Given the description of an element on the screen output the (x, y) to click on. 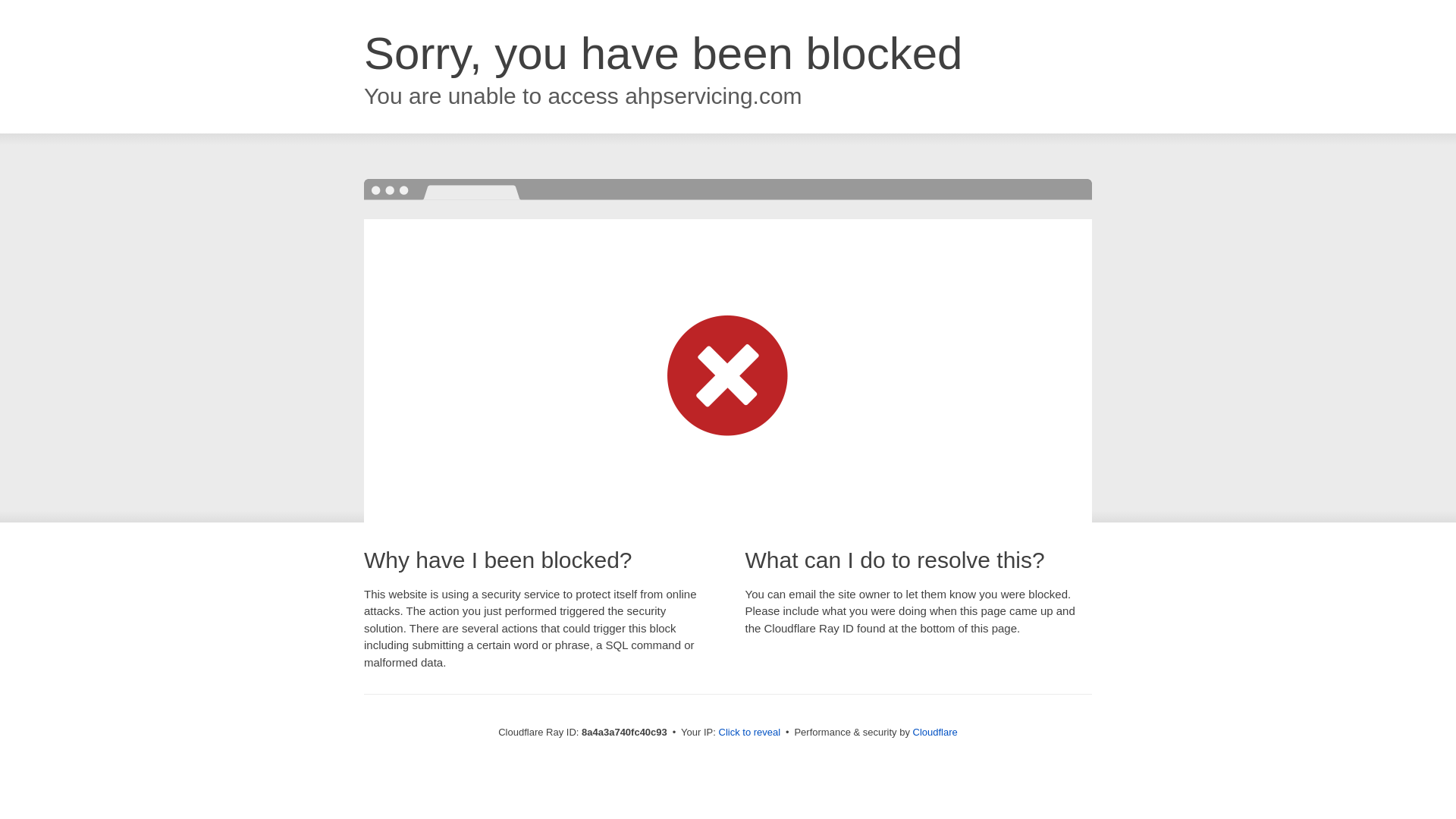
Cloudflare (935, 731)
Click to reveal (749, 732)
